Given the description of an element on the screen output the (x, y) to click on. 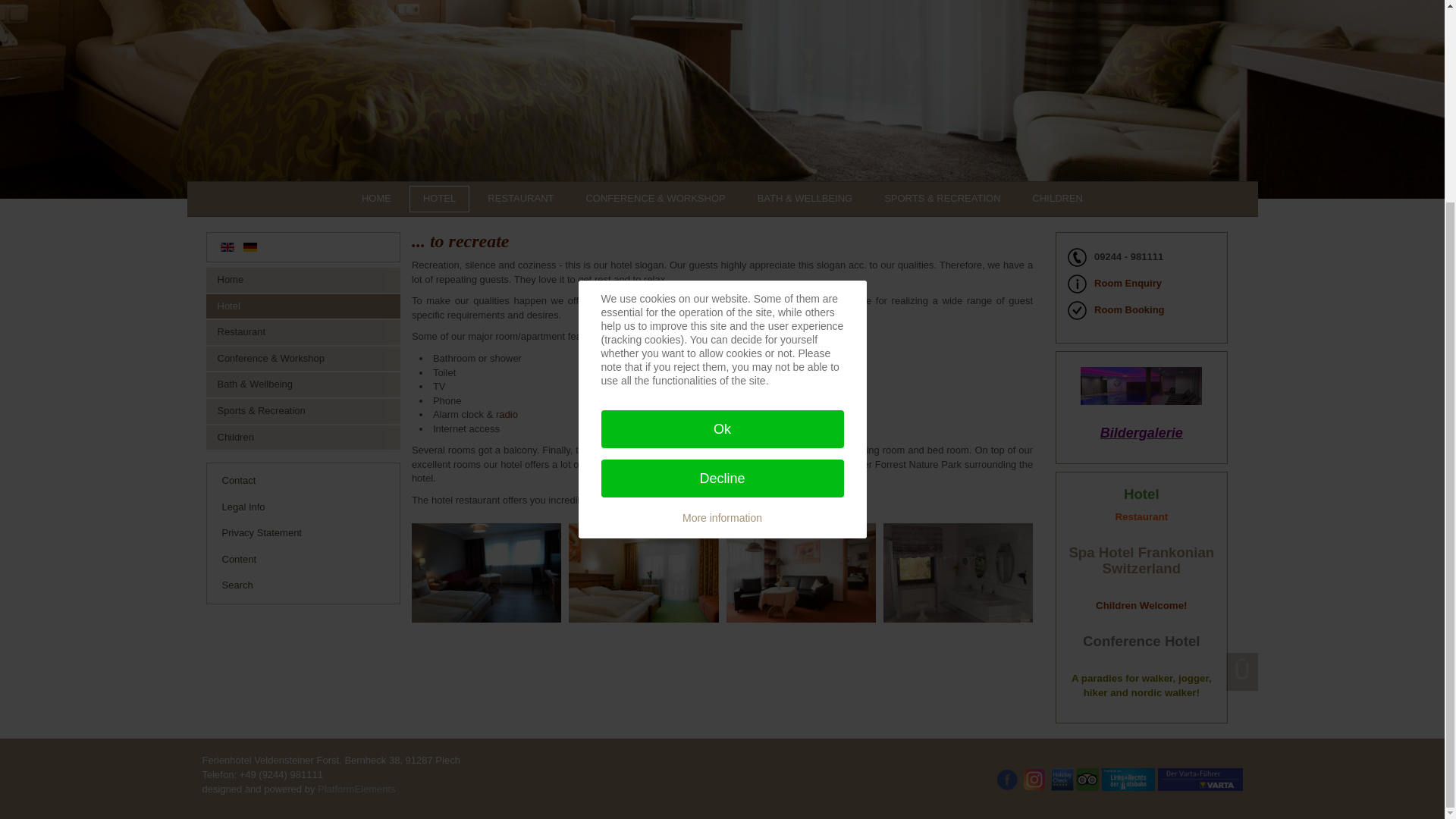
Restaurant (303, 332)
CHILDREN (1057, 198)
Children (303, 437)
Room Enquiry (1127, 282)
RESTAURANT (520, 198)
Room Booking (1128, 309)
Legal Info (303, 507)
Content (303, 559)
HOME (375, 198)
Deutsch (250, 246)
Home (303, 279)
Contact (303, 480)
Privacy Statement (303, 533)
Hotel (303, 306)
HOTEL (438, 198)
